Given the description of an element on the screen output the (x, y) to click on. 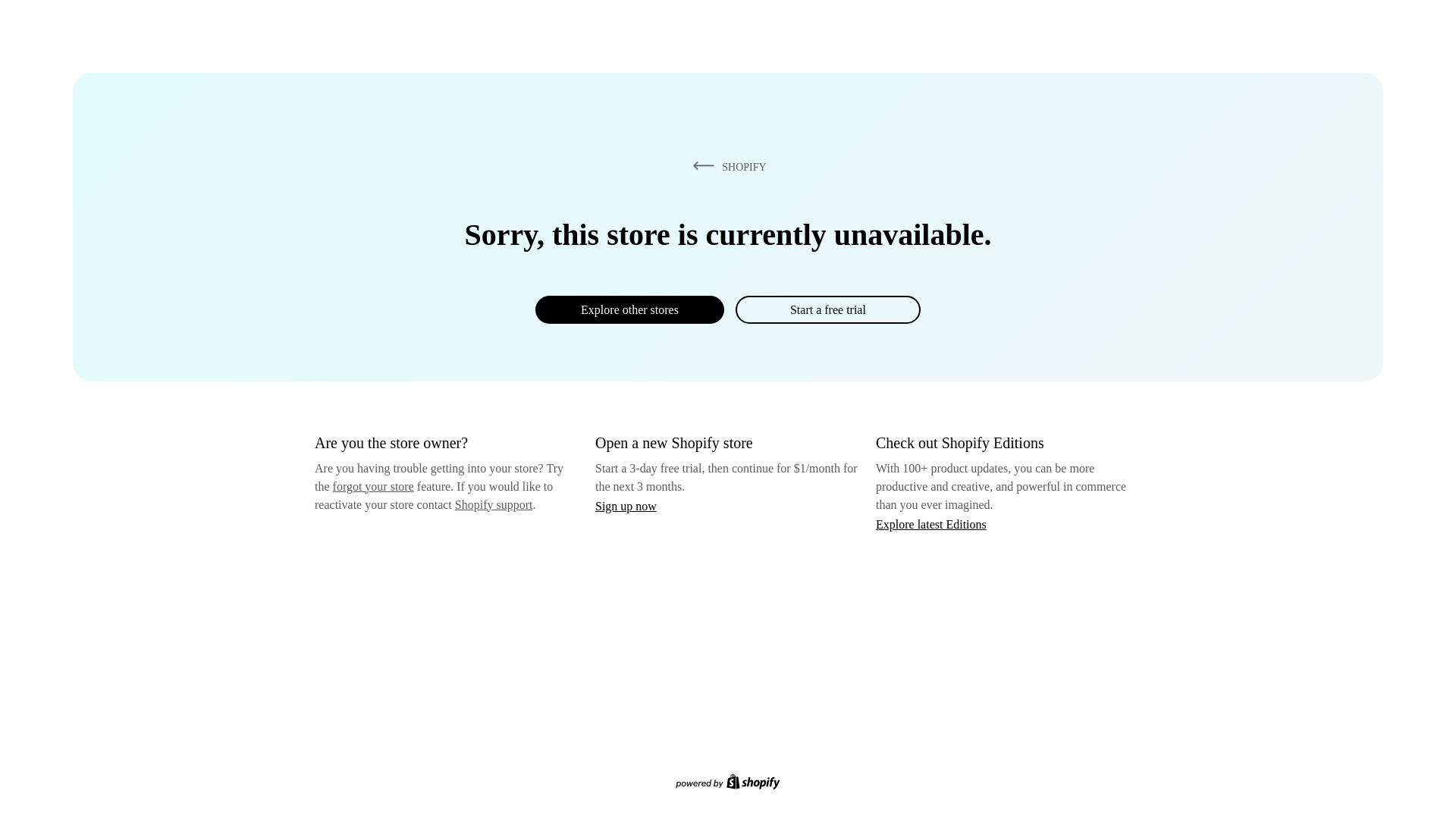
Explore other stores (629, 309)
Sign up now (625, 505)
Start a free trial (827, 309)
Explore latest Editions (931, 523)
Shopify support (493, 504)
forgot your store (373, 486)
SHOPIFY (726, 166)
